Given the description of an element on the screen output the (x, y) to click on. 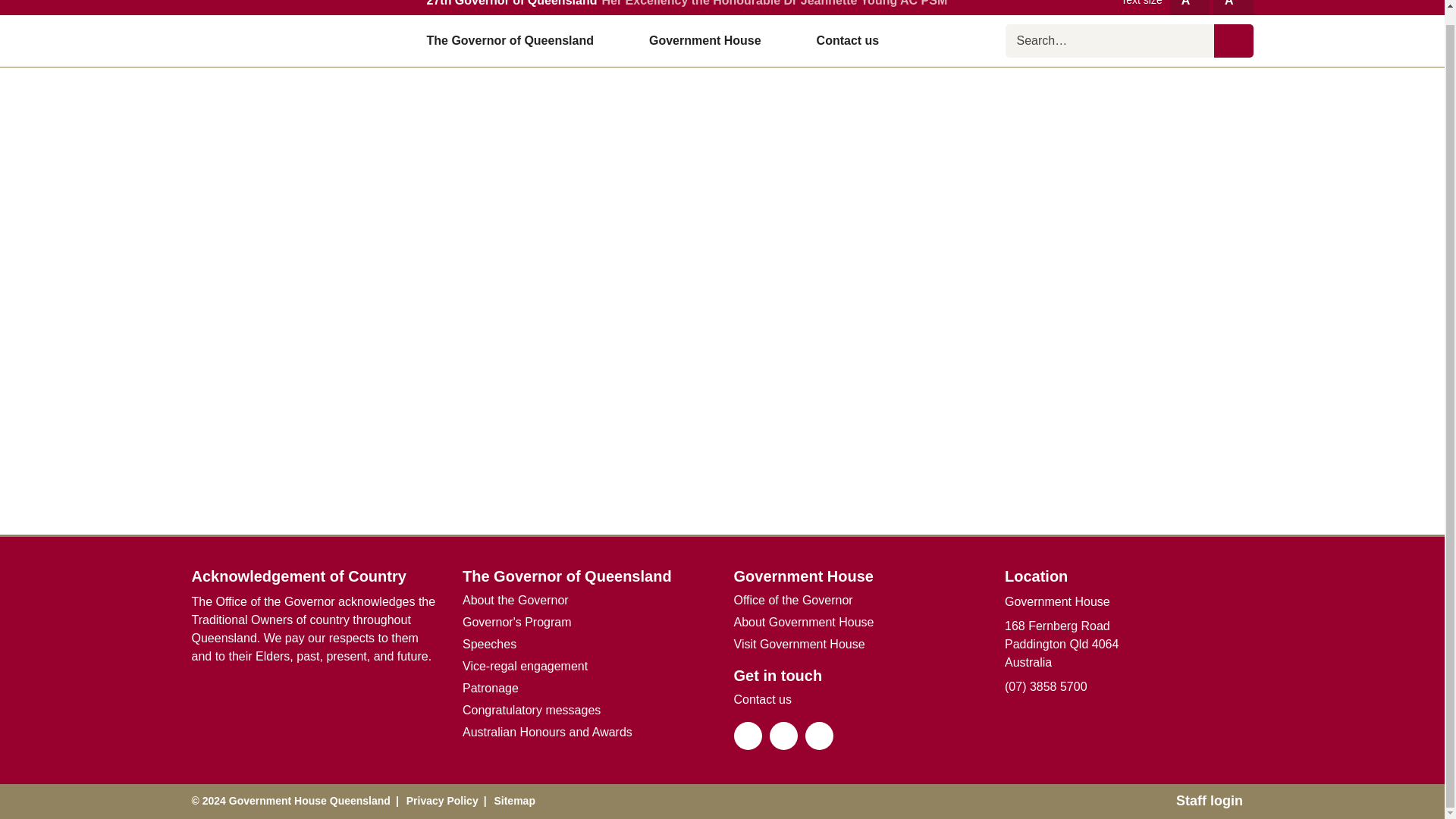
About the Governor (516, 599)
The Governor of Queensland (515, 40)
Increase text size (1189, 7)
Contact us (848, 40)
Government House Queensland (287, 40)
Government House (711, 40)
Decrease text size (1232, 7)
A (1189, 7)
A (1232, 7)
Governor's Program (517, 621)
